Given the description of an element on the screen output the (x, y) to click on. 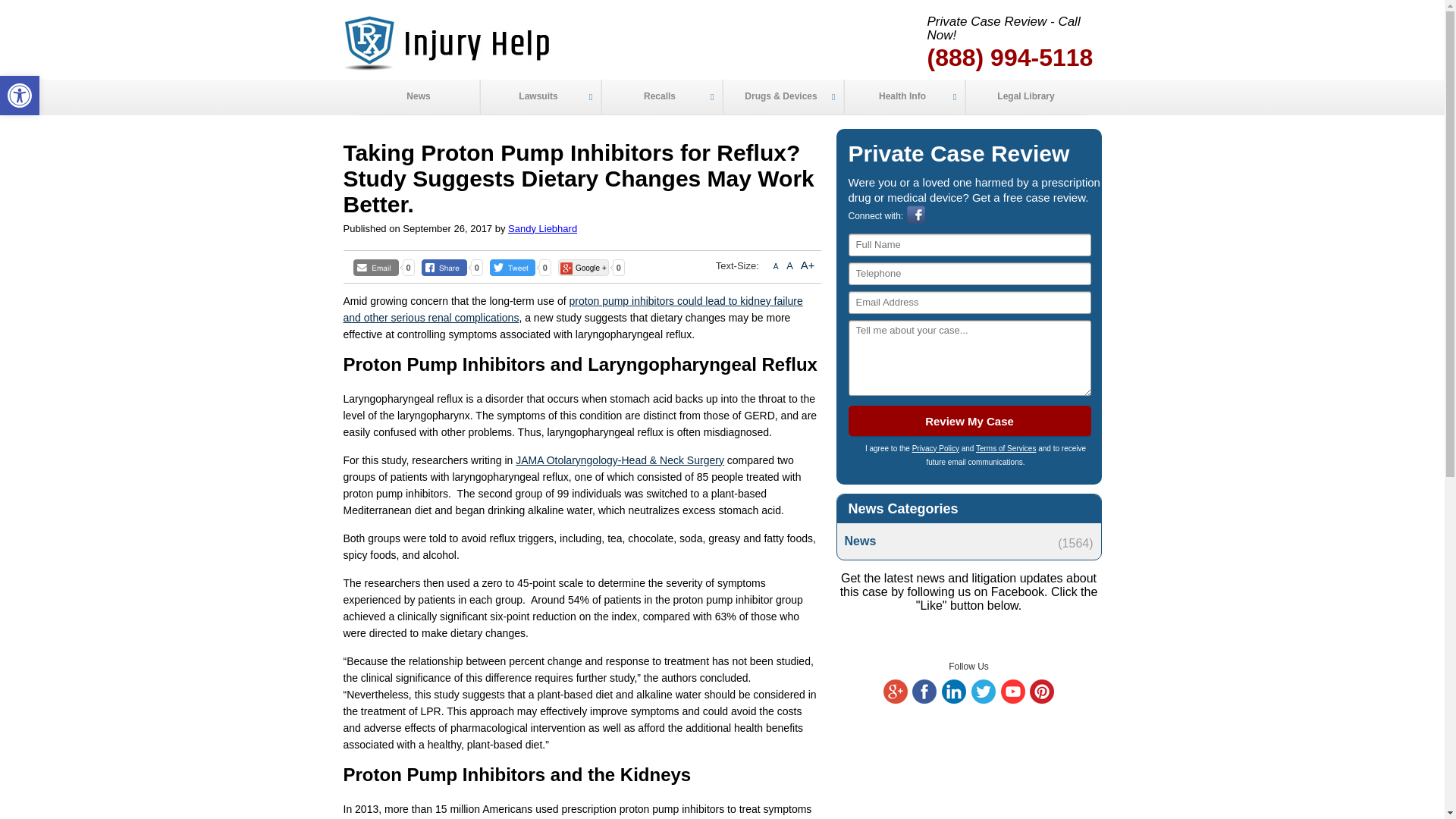
Accessibility Tools (19, 95)
RXInjuryHelp.com on Pinterest (1041, 700)
Recalls (660, 97)
News (968, 540)
RXInjuryHelp.com on Facebook (924, 700)
Lawsuits (539, 97)
Health Info (903, 97)
Connect with Facebook (915, 220)
News (418, 97)
Accessibility Tools (19, 95)
